Given the description of an element on the screen output the (x, y) to click on. 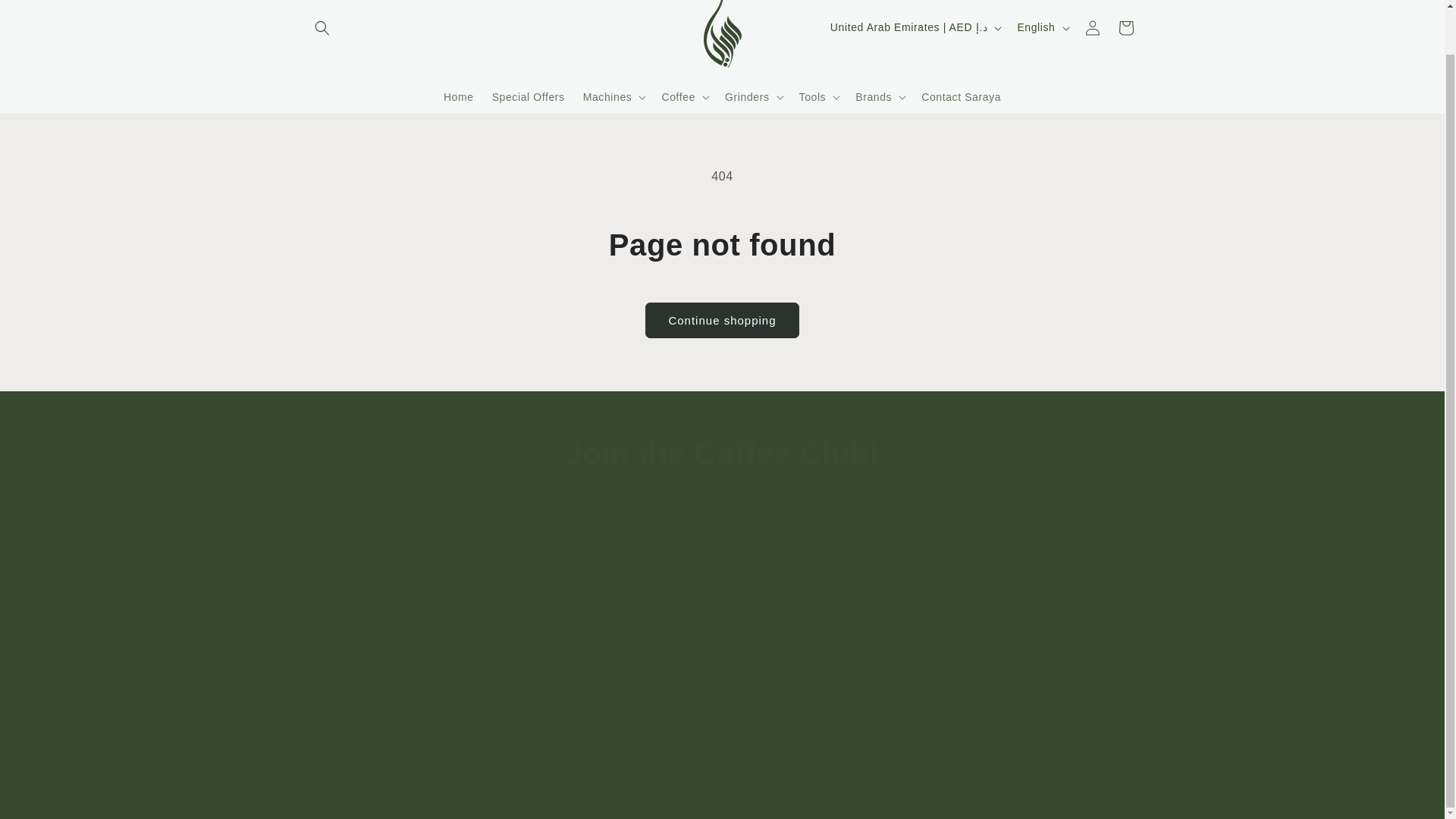
Join the Coffee Club! (721, 453)
Instagram (721, 611)
Email (722, 543)
